Given the description of an element on the screen output the (x, y) to click on. 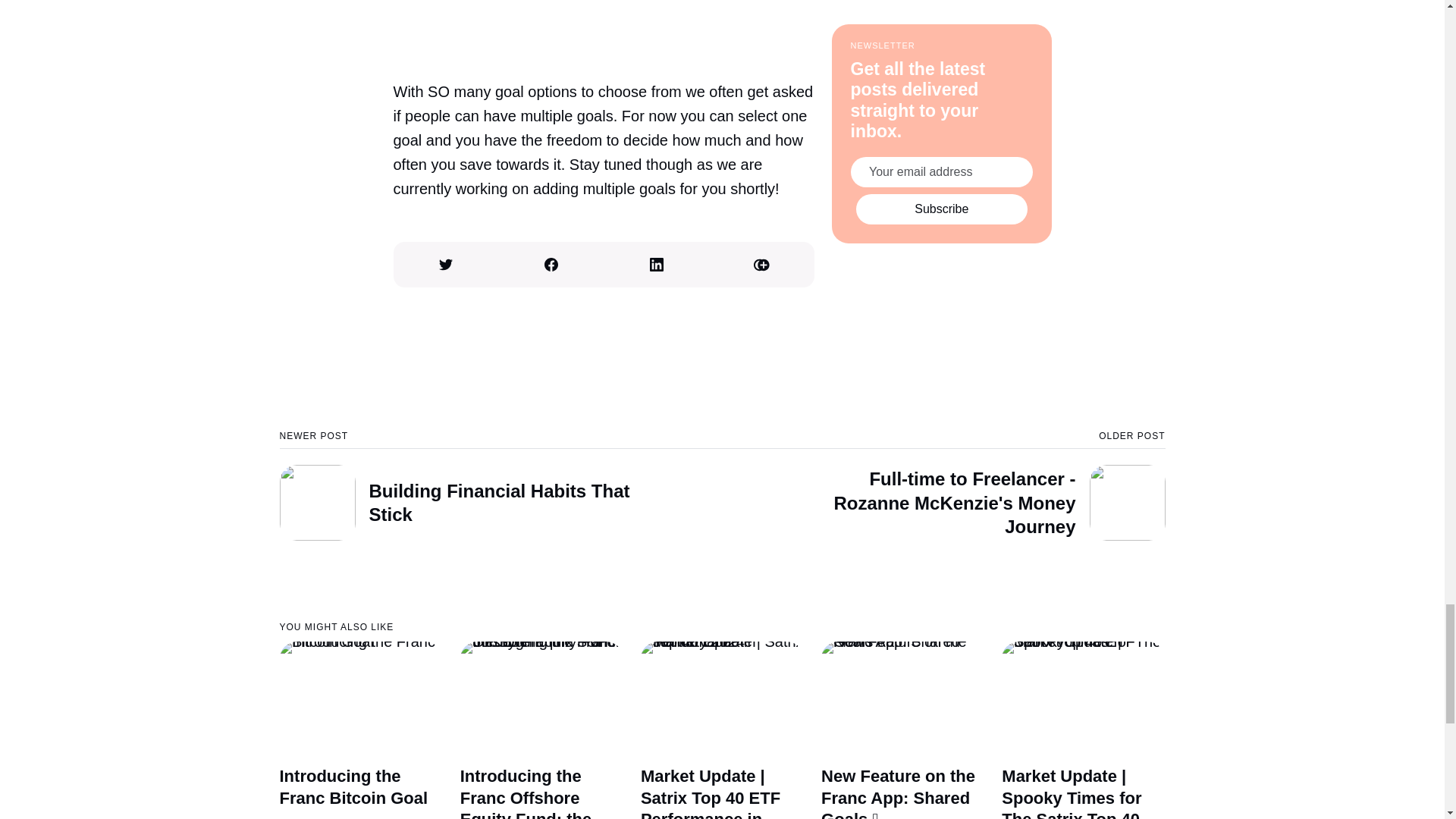
Introducing the Franc Bitcoin Goal (353, 786)
